Given the description of an element on the screen output the (x, y) to click on. 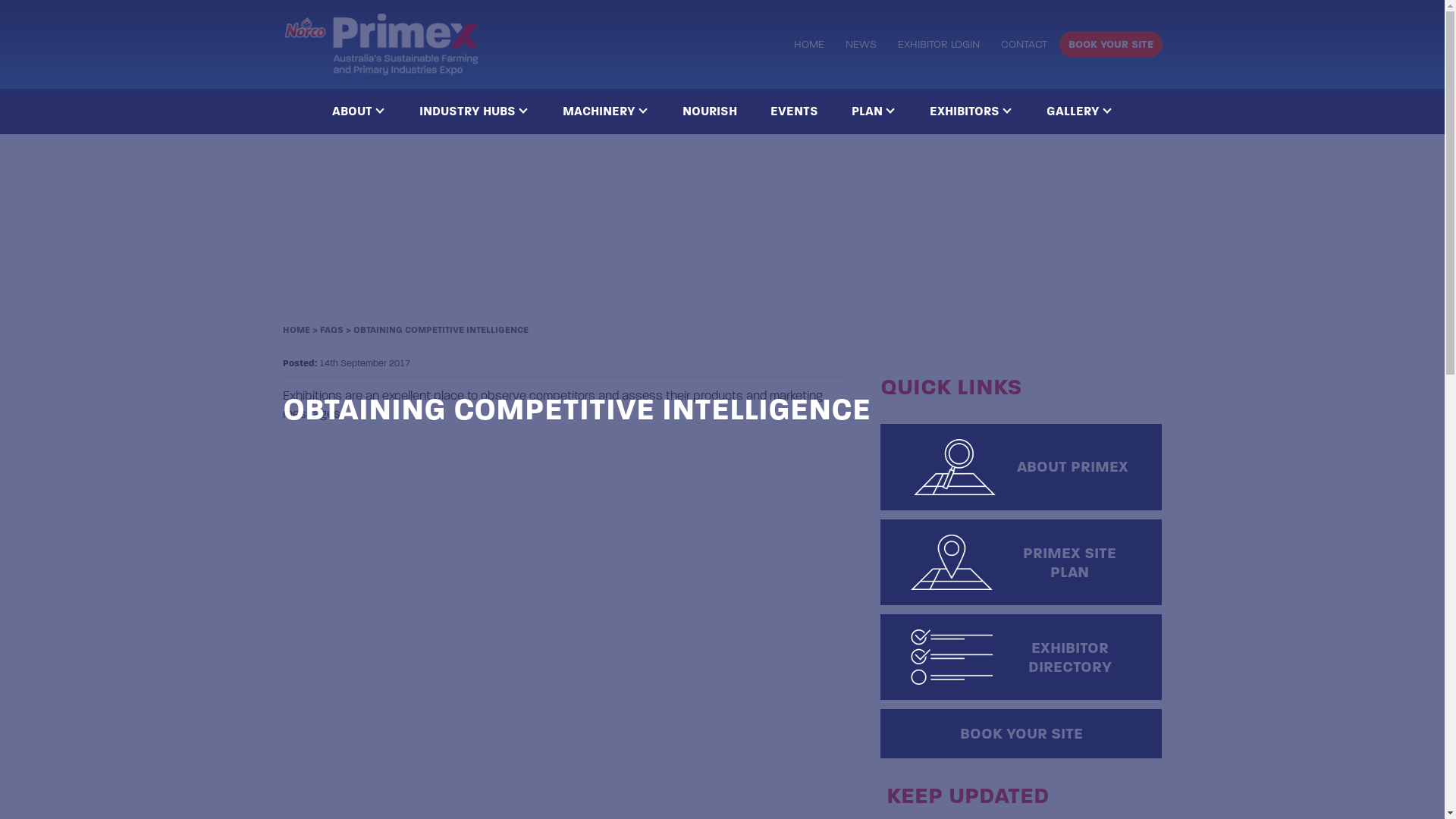
NEWS Element type: text (859, 43)
EVENTS Element type: text (793, 111)
CONTACT Element type: text (1023, 43)
MACHINERY Element type: text (605, 111)
ABOUT Element type: text (358, 111)
NOURISH Element type: text (709, 111)
INDUSTRY HUBS Element type: text (473, 111)
BOOK YOUR SITE Element type: text (1020, 733)
HOME Element type: text (295, 329)
BOOK YOUR SITE Element type: text (1109, 44)
EXHIBITOR LOGIN Element type: text (938, 43)
EXHIBITOR DIRECTORY Element type: text (1020, 656)
HOME Element type: text (808, 43)
EXHIBITORS Element type: text (971, 111)
GALLERY Element type: text (1079, 111)
ABOUT PRIMEX Element type: text (1020, 466)
FAQS Element type: text (331, 329)
PRIMEX SITE PLAN Element type: text (1020, 562)
PLAN Element type: text (873, 111)
